Given the description of an element on the screen output the (x, y) to click on. 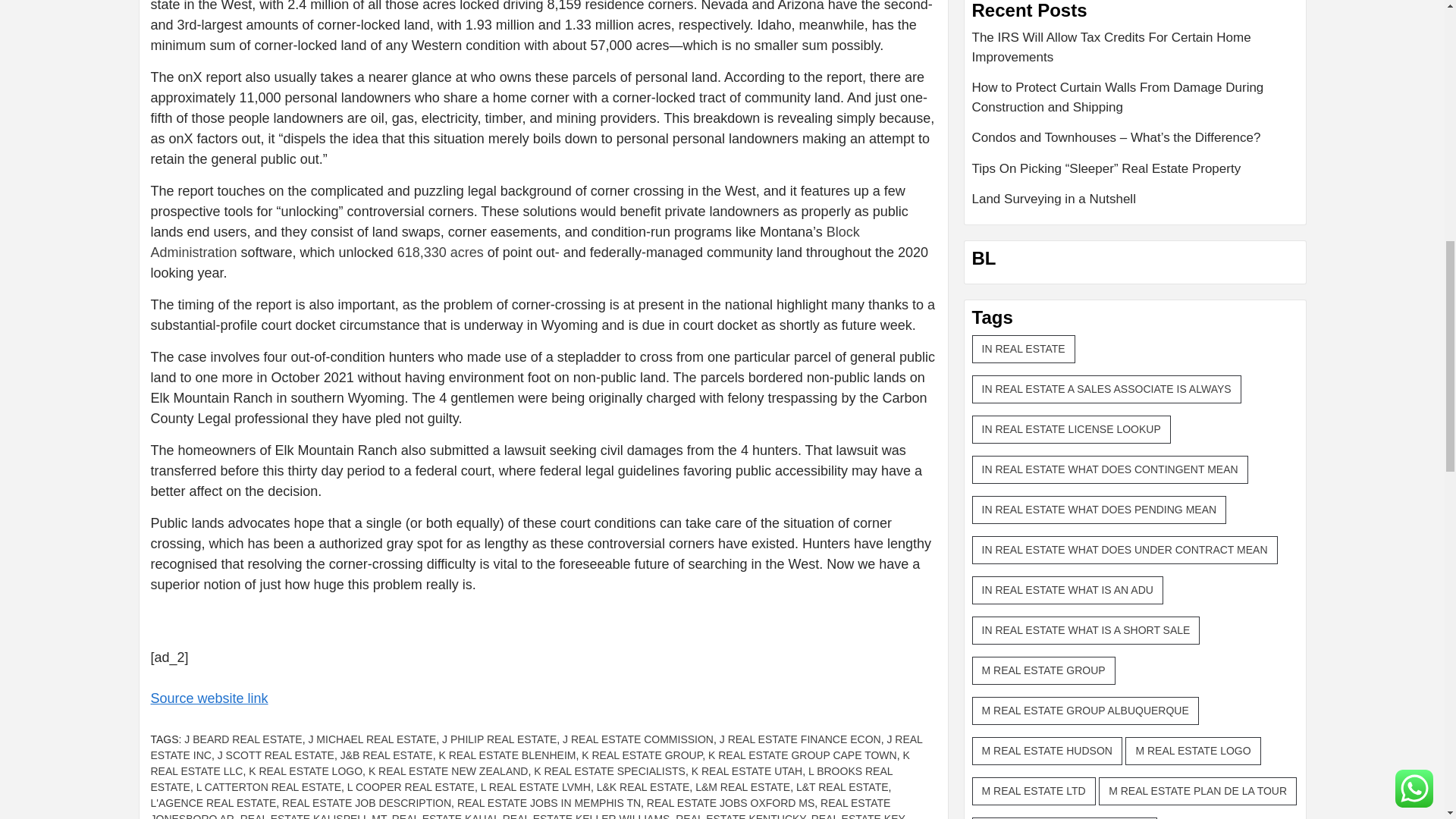
K REAL ESTATE UTAH (747, 770)
J PHILIP REAL ESTATE (499, 739)
K REAL ESTATE BLENHEIM (506, 755)
K REAL ESTATE LOGO (305, 770)
J SCOTT REAL ESTATE (275, 755)
J BEARD REAL ESTATE (242, 739)
J REAL ESTATE INC (535, 747)
618,330 acres (440, 252)
K REAL ESTATE SPECIALISTS (609, 770)
Block Administration (504, 242)
